Given the description of an element on the screen output the (x, y) to click on. 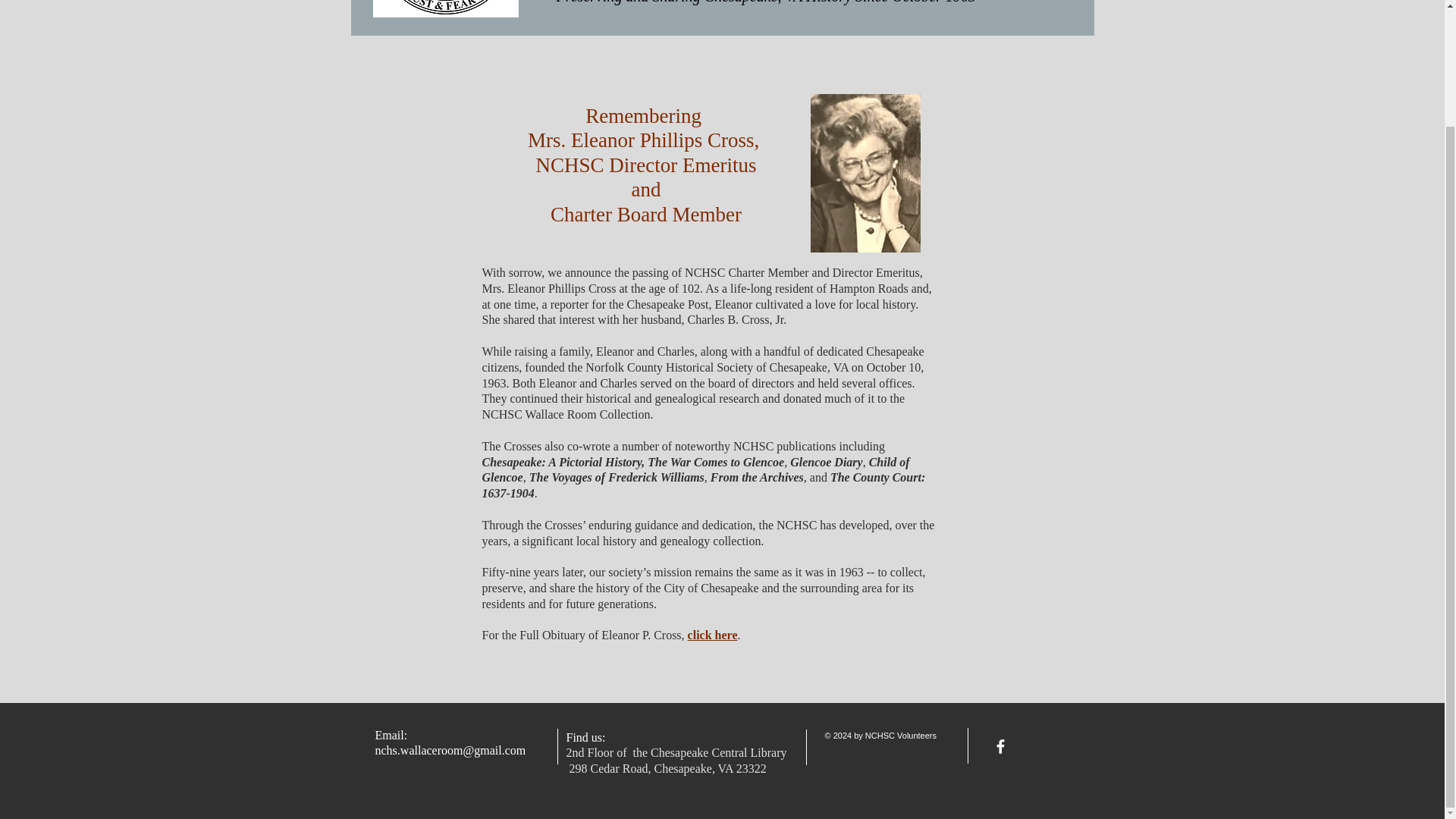
click here (712, 634)
